Given the description of an element on the screen output the (x, y) to click on. 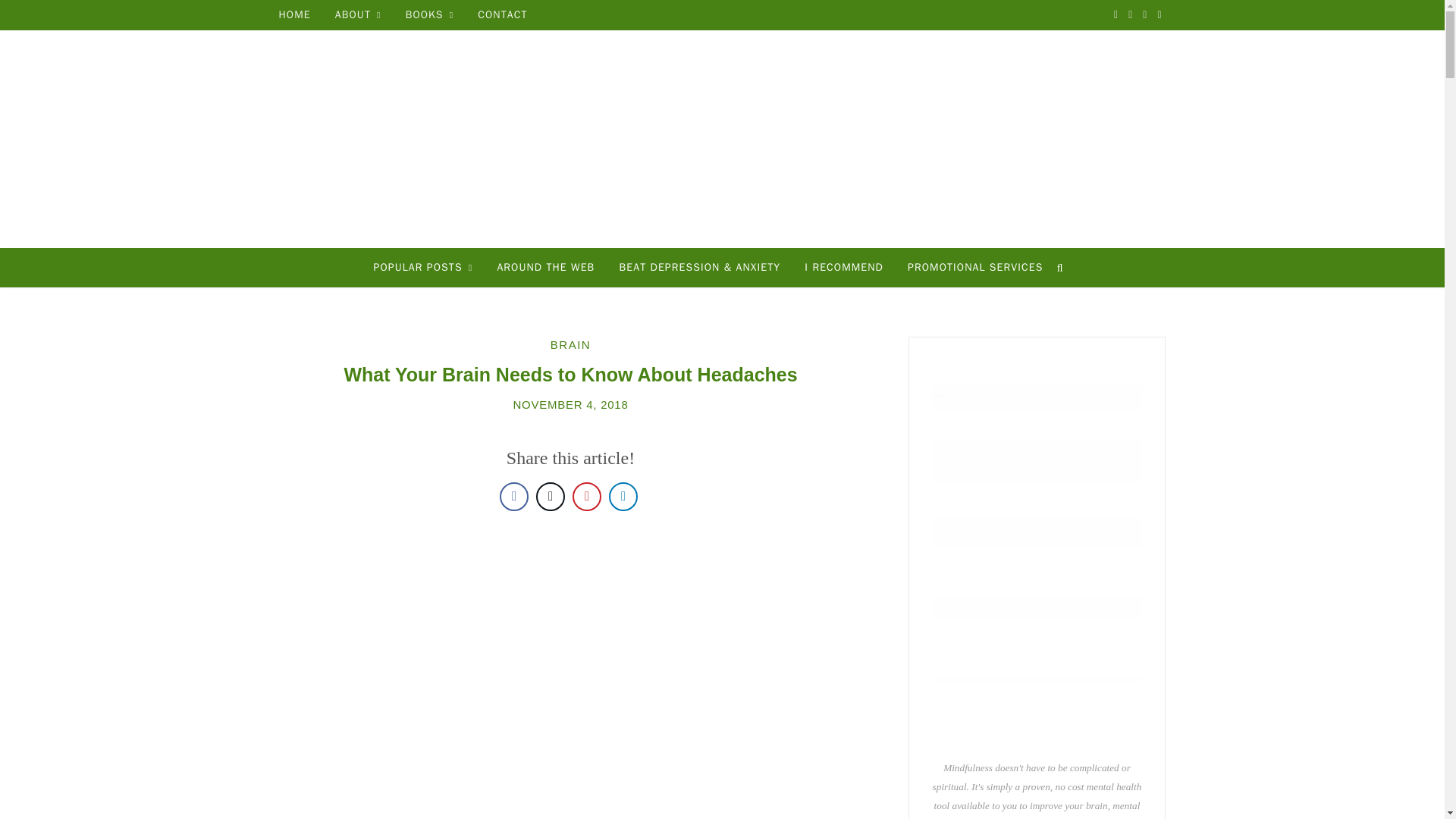
NOVEMBER 4, 2018 (569, 404)
I RECOMMEND (843, 267)
CONTACT (502, 15)
PROMOTIONAL SERVICES (974, 267)
POPULAR POSTS (422, 267)
The Best Brain Possible (722, 139)
BRAIN (570, 344)
HOME (294, 15)
ABOUT (357, 15)
BOOKS (429, 15)
